Given the description of an element on the screen output the (x, y) to click on. 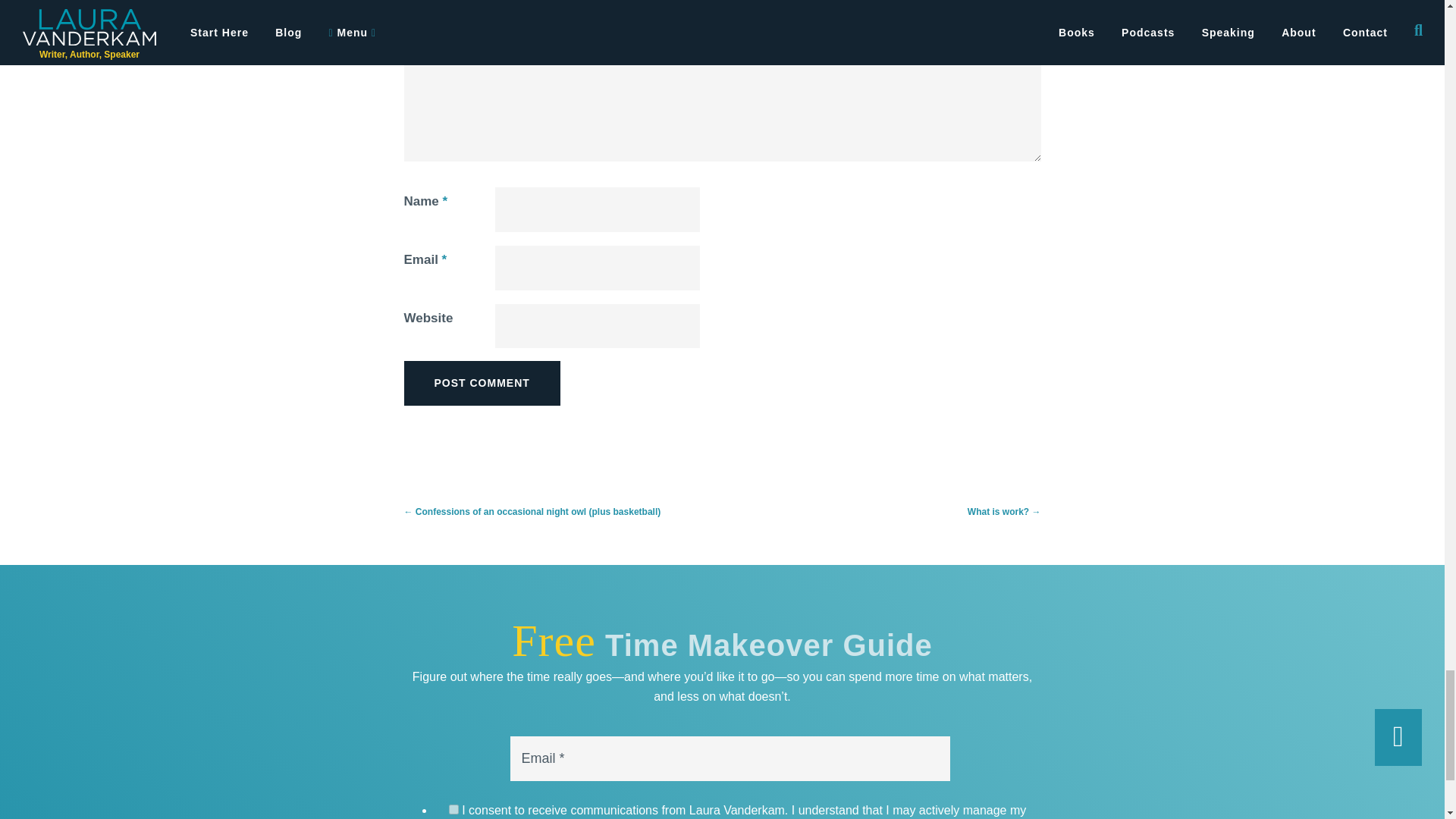
Post Comment (481, 382)
